Given the description of an element on the screen output the (x, y) to click on. 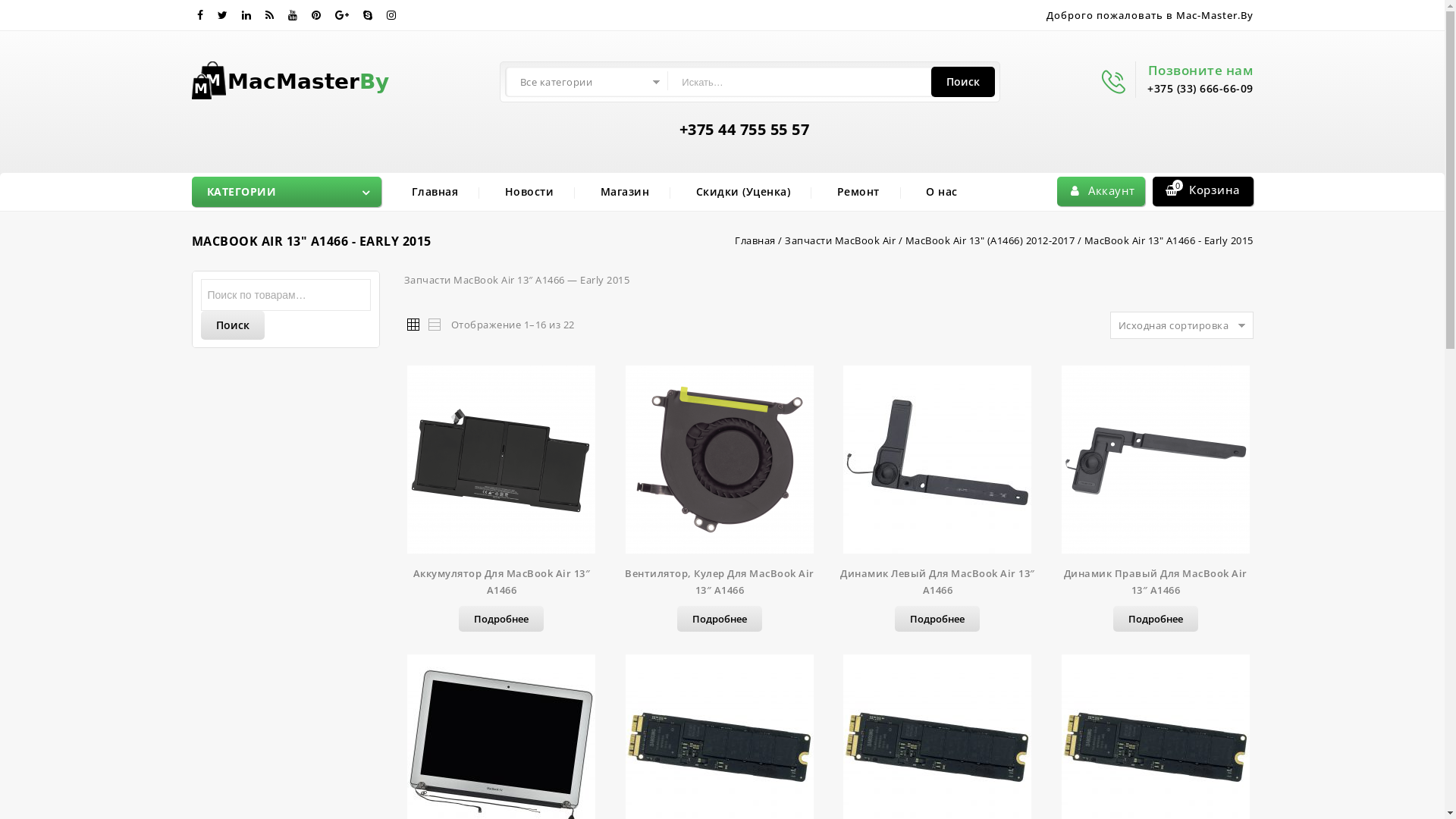
Linkedin Element type: hover (246, 14)
Skype Element type: hover (367, 14)
Youtube Element type: hover (293, 14)
Instagram Element type: hover (391, 14)
Facebook Element type: hover (200, 14)
Google Plus  Element type: hover (342, 14)
List view Element type: hover (432, 323)
RSS Element type: hover (269, 14)
Pinterest Element type: hover (315, 14)
MacBook Air 13" (A1466) 2012-2017 Element type: text (990, 240)
Grid view Element type: hover (411, 323)
Twitter Element type: hover (221, 14)
0 Element type: text (1177, 185)
